Given the description of an element on the screen output the (x, y) to click on. 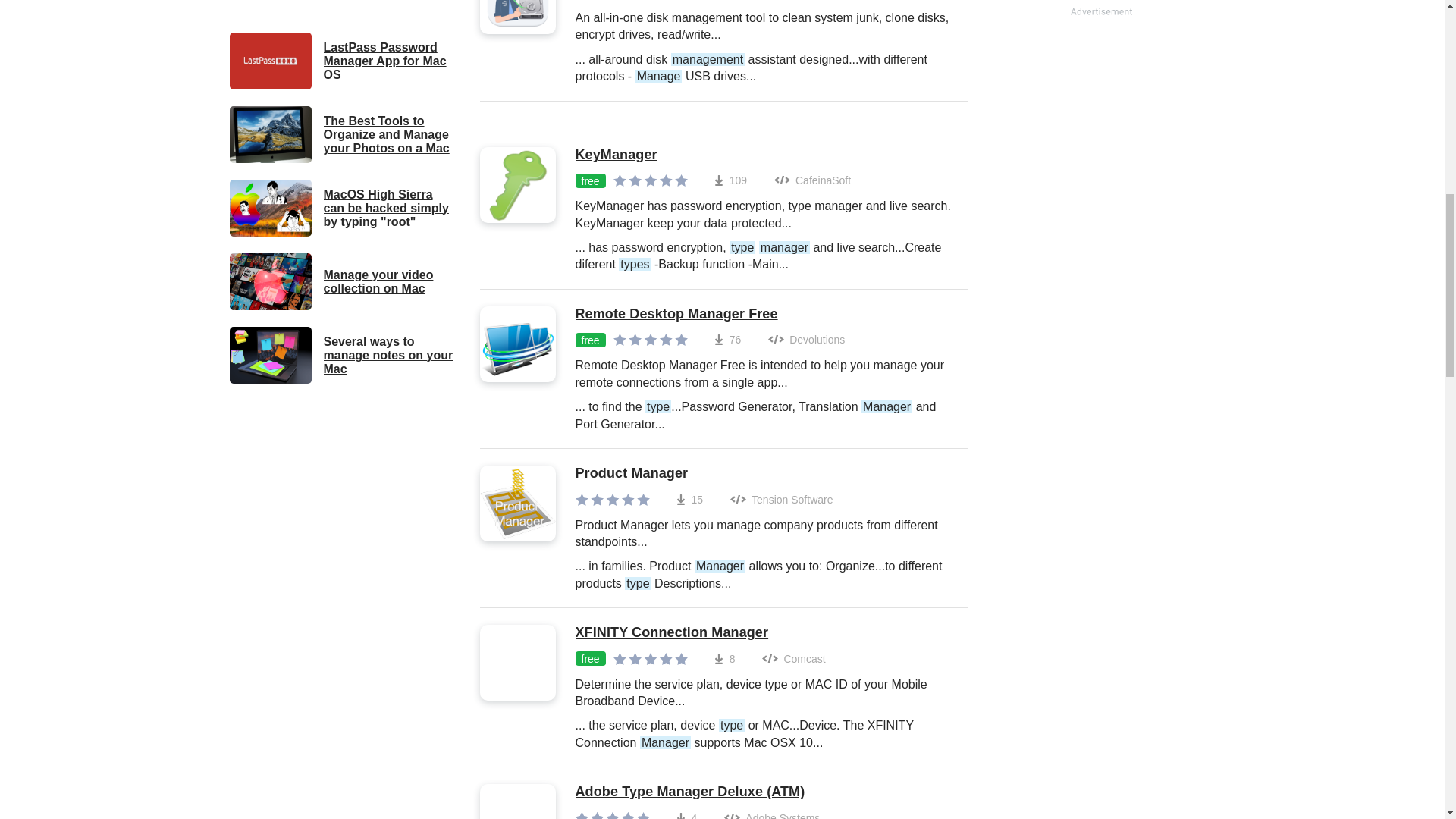
Remote Desktop Manager Free (763, 314)
LastPass Password Manager App for Mac OS (342, 60)
KeyManager (763, 155)
MacOS High Sierra can be hacked simply by typing "root" (342, 207)
XFINITY Connection Manager (763, 632)
The Best Tools to Organize and Manage your Photos on a Mac (342, 134)
Product Manager (763, 474)
Remote Desktop Manager Free (763, 314)
XFINITY Connection Manager (763, 632)
Product Manager (763, 474)
Several ways to manage notes on your Mac (342, 355)
Manage your video collection on Mac (342, 281)
KeyManager (763, 155)
